Given the description of an element on the screen output the (x, y) to click on. 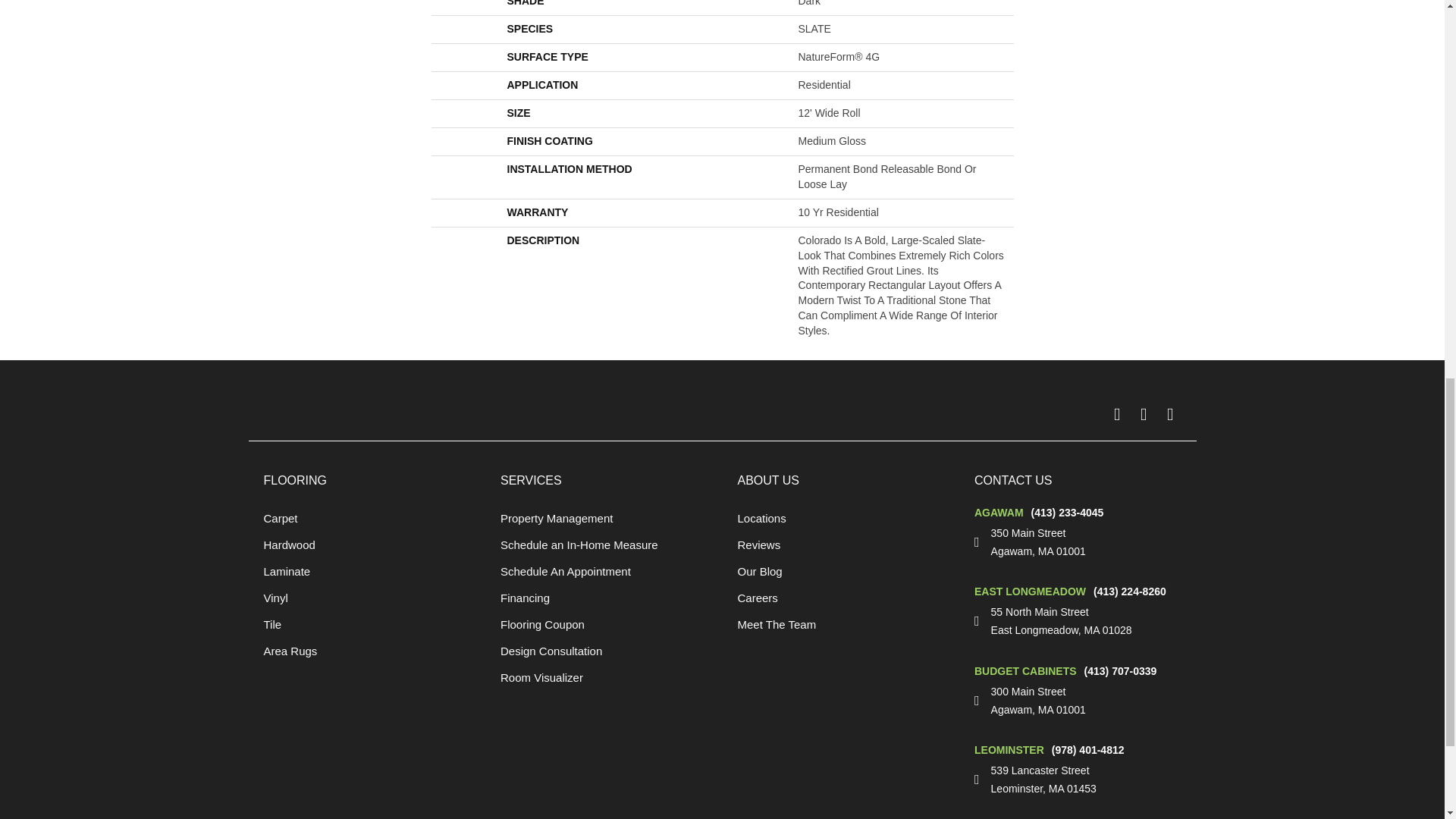
FLOORING (295, 480)
SERVICES (531, 480)
ABOUT US (767, 480)
CONTACT US (1013, 480)
